Given the description of an element on the screen output the (x, y) to click on. 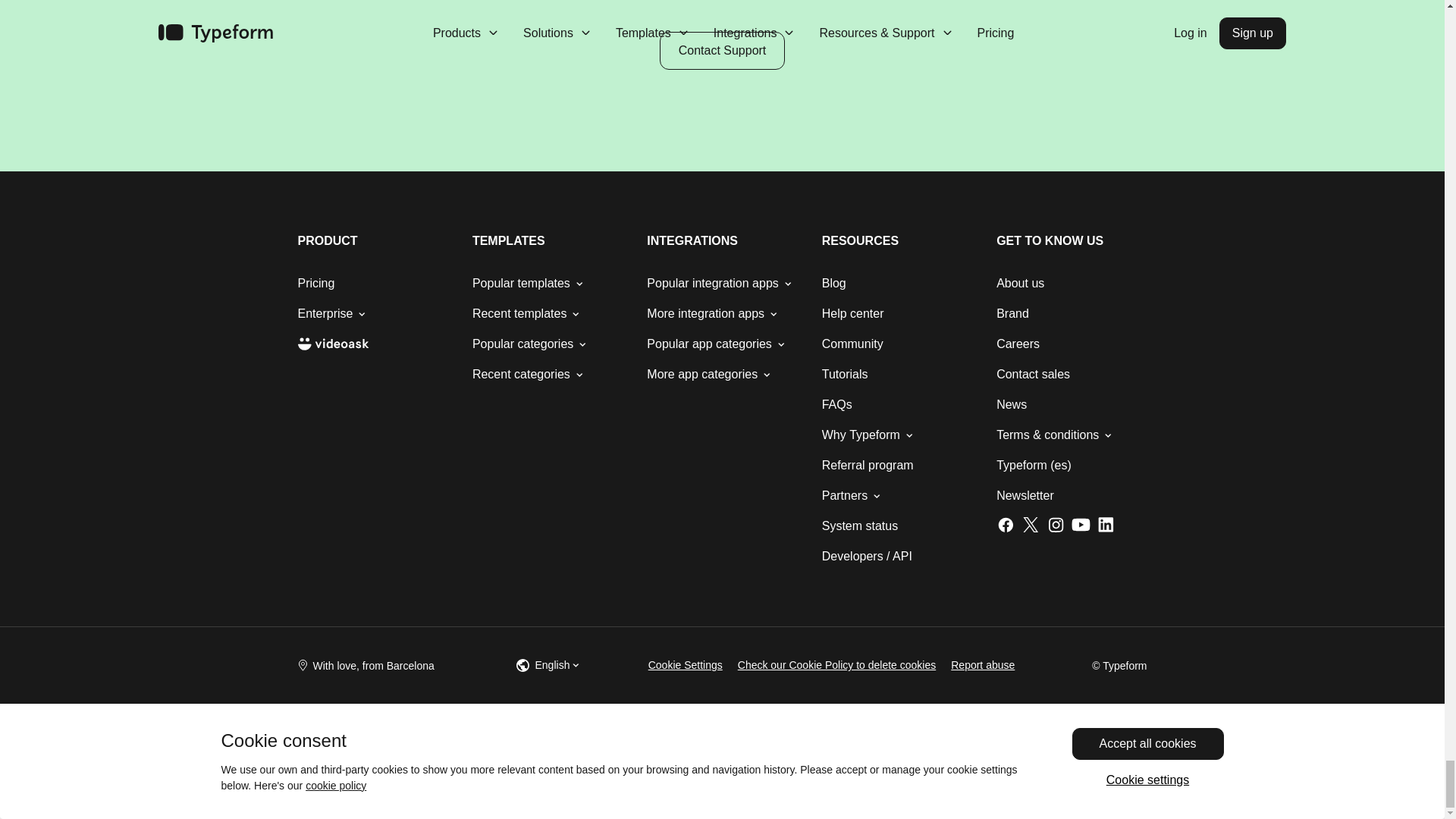
VideoAsk (332, 343)
